Given the description of an element on the screen output the (x, y) to click on. 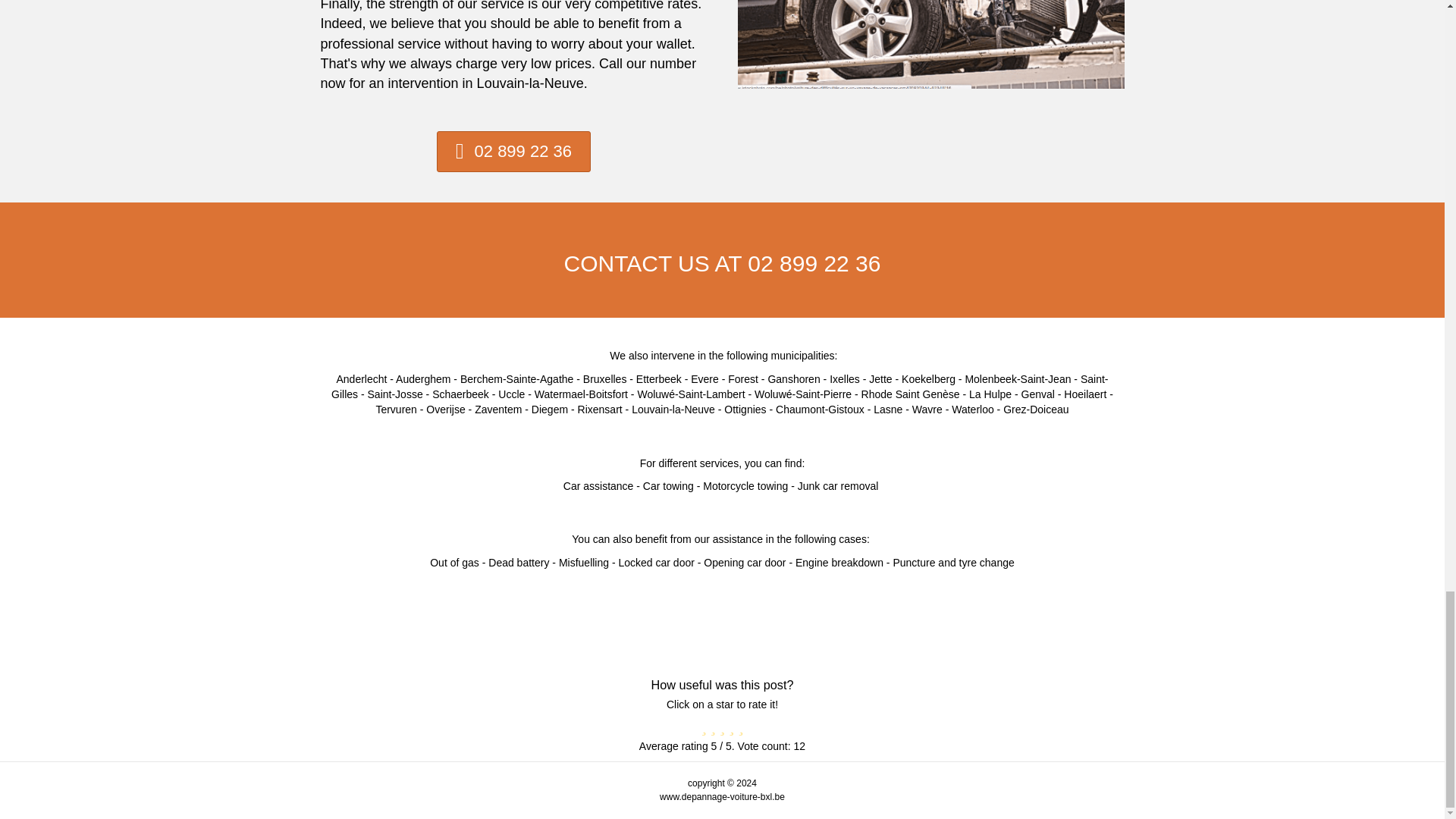
Berchem-Sainte-Agathe (516, 378)
Jette (880, 378)
Evere (704, 378)
Saint-Josse (395, 394)
Molenbeek-Saint-Jean (1016, 378)
Ixelles (844, 378)
Bruxelles (605, 378)
02 899 22 36 (513, 151)
Schaerbeek (460, 394)
Koekelberg (928, 378)
